Given the description of an element on the screen output the (x, y) to click on. 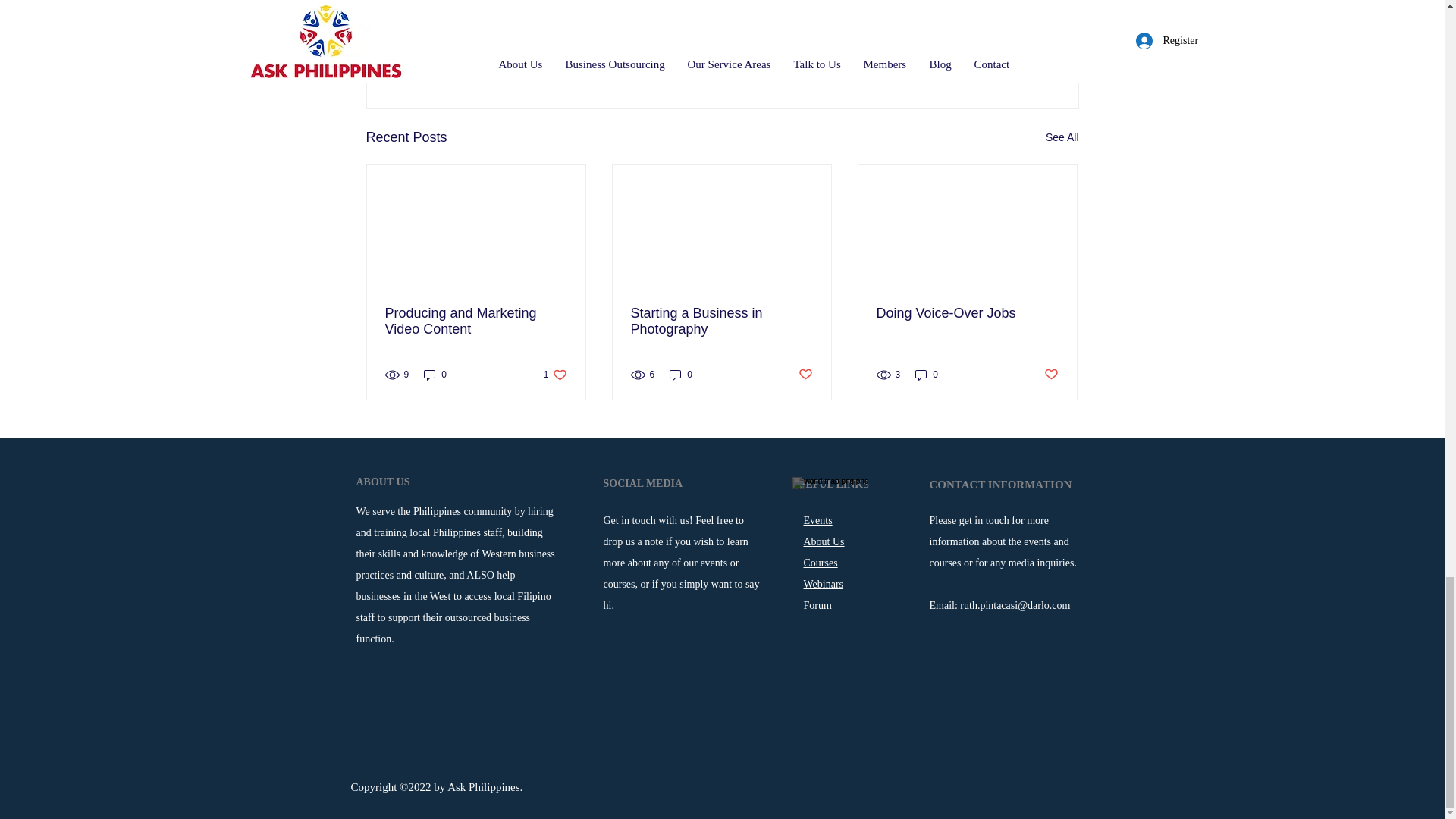
Post not marked as liked (1050, 374)
Producing and Marketing Video Content (476, 321)
Starting a Business in Photography (555, 374)
0 (721, 321)
SOCIAL MEDIA (681, 374)
0 (643, 482)
See All (926, 374)
Doing Voice-Over Jobs (1061, 137)
Post not marked as liked (967, 313)
